Given the description of an element on the screen output the (x, y) to click on. 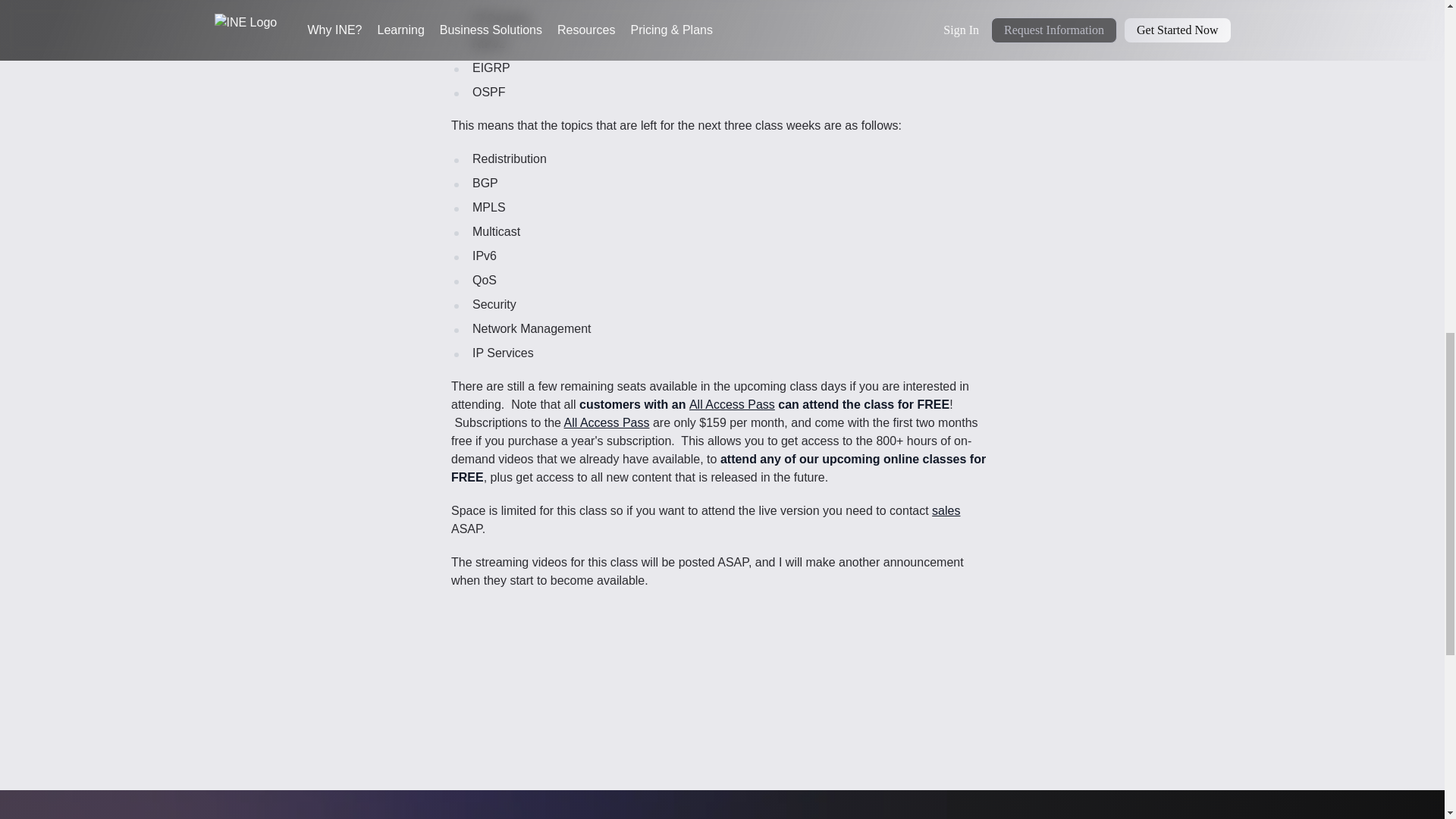
All Access Pass (606, 422)
sales (945, 510)
CCIE Sales (945, 510)
All Access Pass (731, 404)
